Given the description of an element on the screen output the (x, y) to click on. 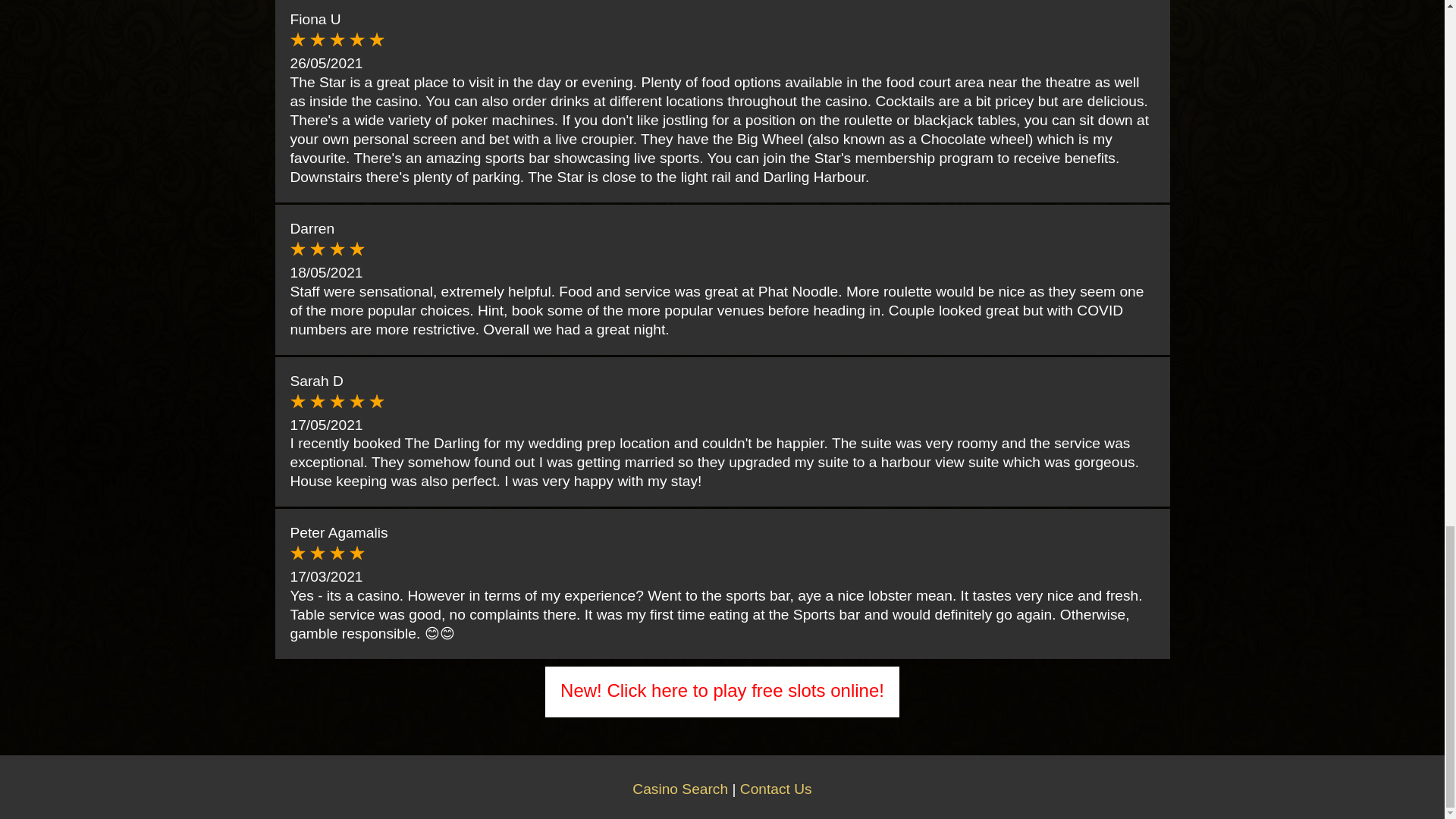
Casino Search (679, 788)
New! Click here to play free slots online! (721, 690)
Contact Us (775, 788)
